Given the description of an element on the screen output the (x, y) to click on. 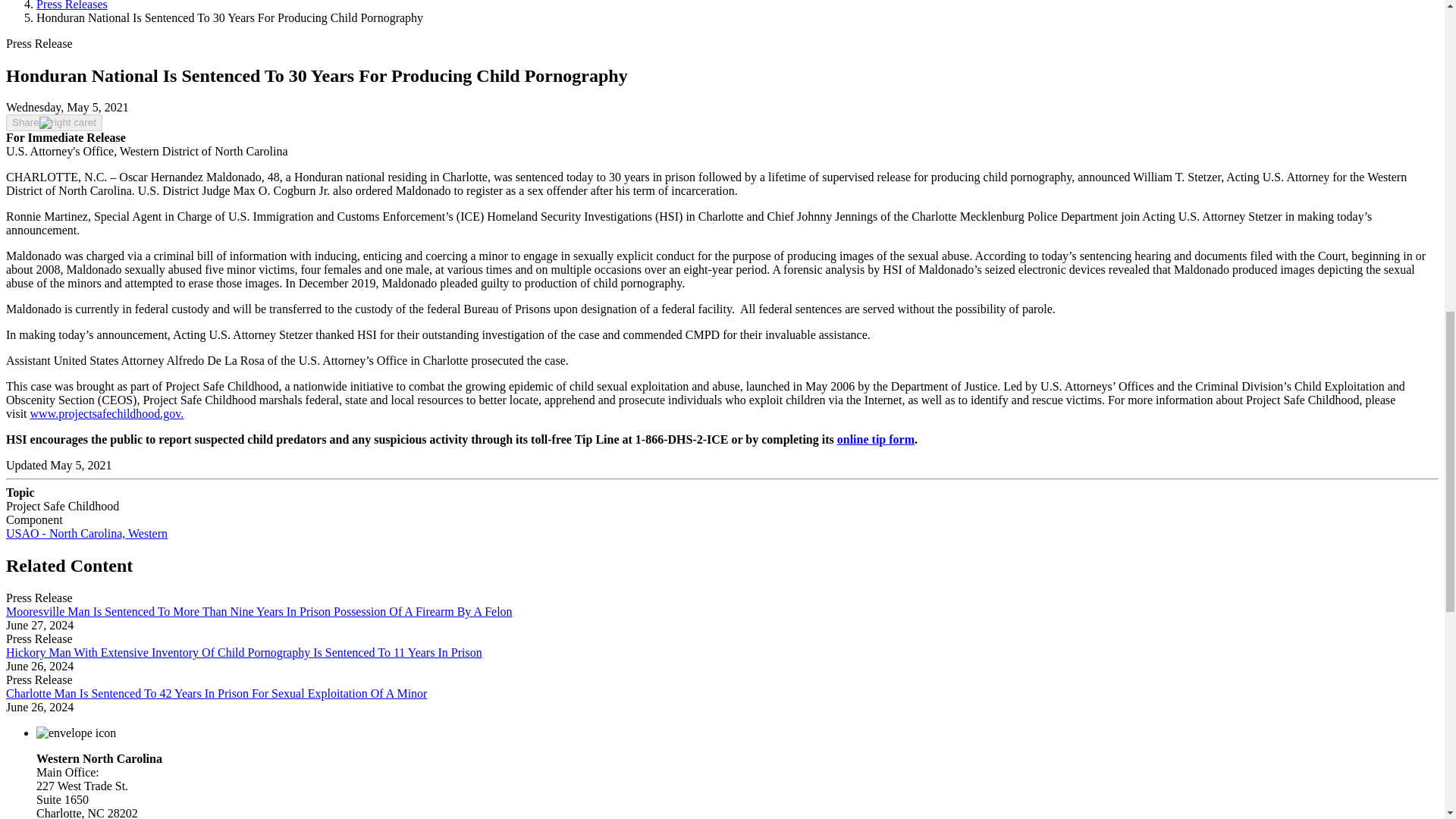
Share (53, 122)
Press Releases (71, 5)
